Given the description of an element on the screen output the (x, y) to click on. 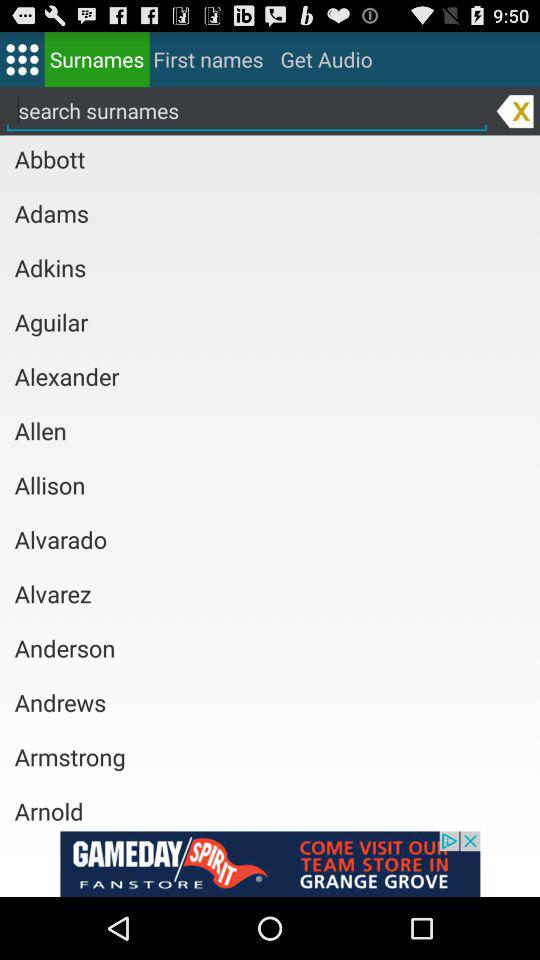
open advertisement (270, 864)
